Given the description of an element on the screen output the (x, y) to click on. 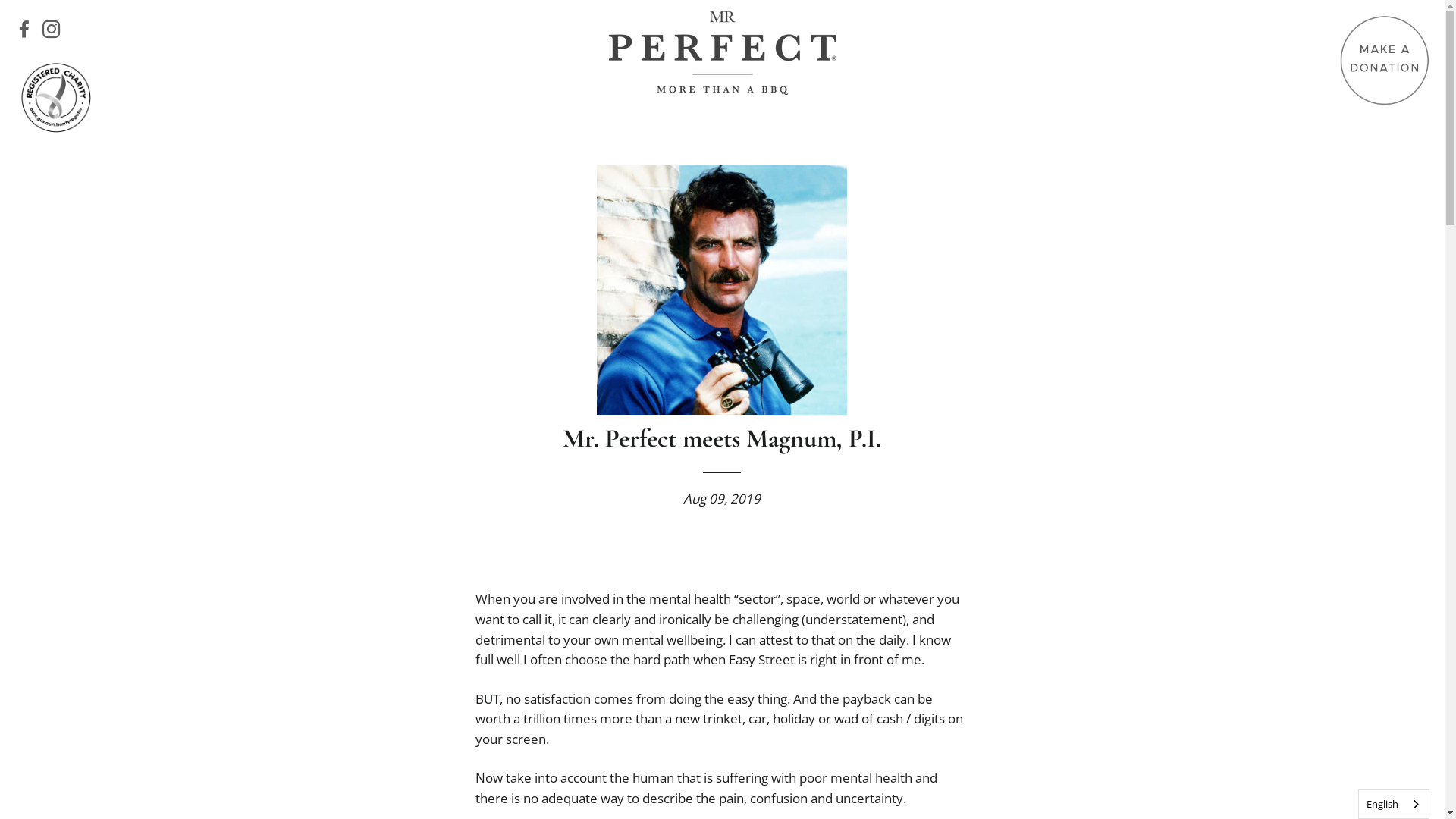
Mr Perfect - Mental Health&#39;s Mate on LinkedIn Element type: hover (75, 31)
Mr Perfect - Mental Health&#39;s Mate on Instagram Element type: hover (54, 31)
Mr Perfect - Mental Health&#39;s Mate on Facebook Element type: hover (27, 31)
English Element type: text (1393, 804)
